Given the description of an element on the screen output the (x, y) to click on. 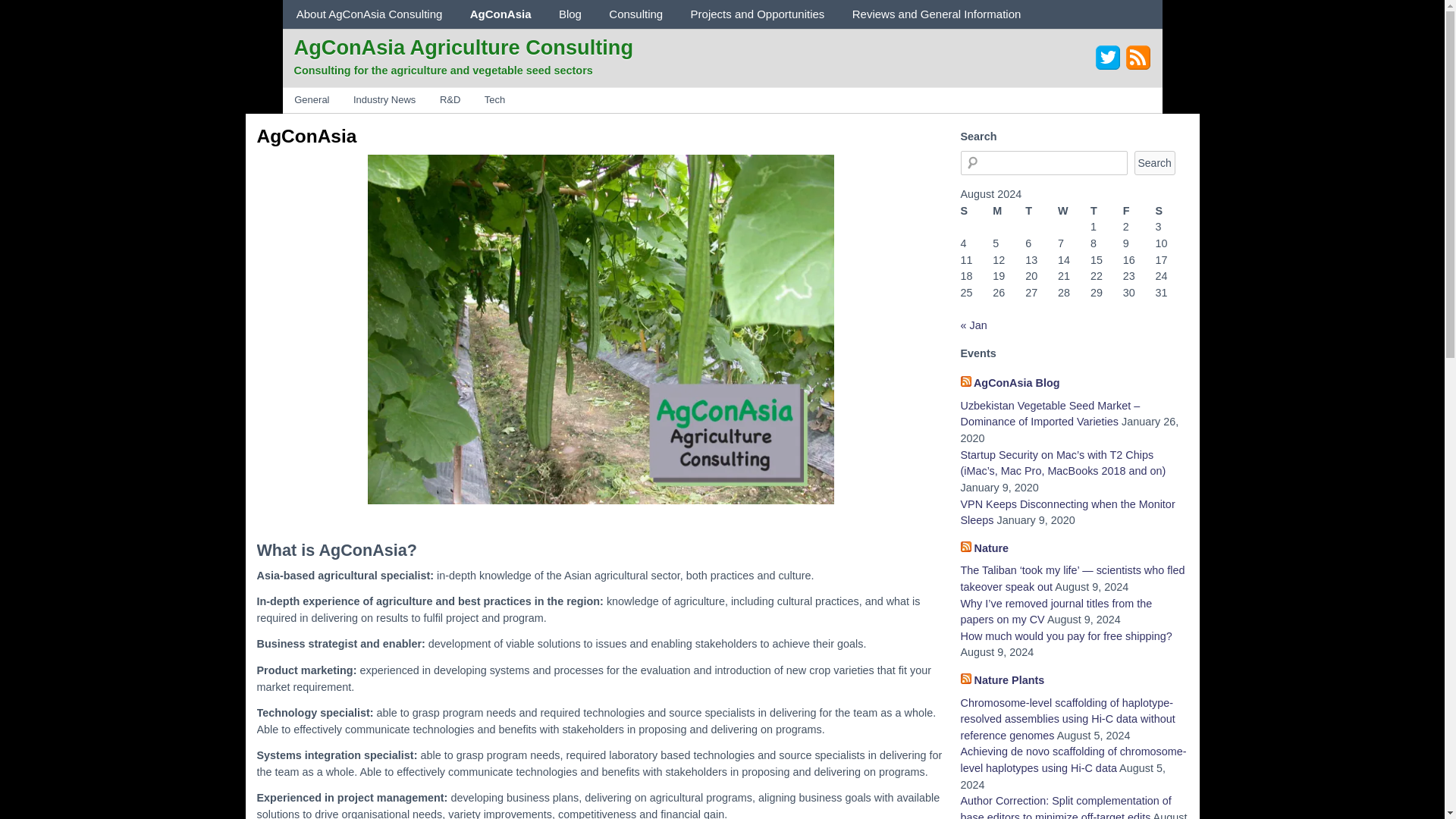
Projects and Opportunities (757, 14)
AgConAsia (500, 14)
AgConAsia Agriculture Consulting (463, 46)
Friday (1139, 211)
AgConAsia (306, 136)
AgConAsia Agriculture Consulting (463, 46)
Reviews and General Information (936, 14)
Permalink to AgConAsia (306, 136)
Search (1154, 162)
Tech (493, 100)
